Given the description of an element on the screen output the (x, y) to click on. 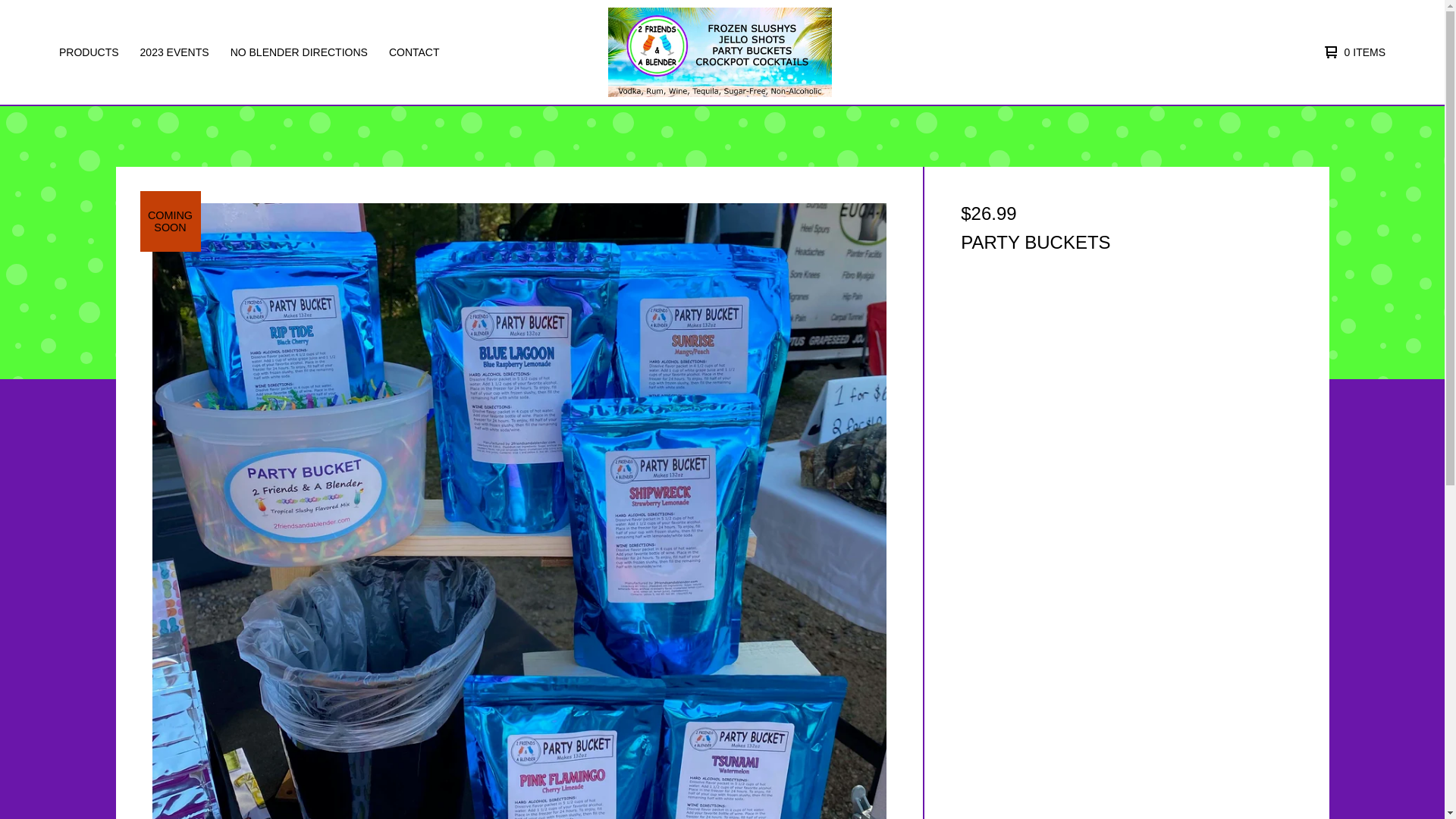
0 ITEMS Element type: text (1351, 52)
PRODUCTS Element type: text (88, 52)
CONTACT Element type: text (414, 52)
2023 EVENTS Element type: text (174, 52)
2 Friends & A Blender Element type: hover (719, 52)
NO BLENDER DIRECTIONS Element type: text (298, 52)
